Given the description of an element on the screen output the (x, y) to click on. 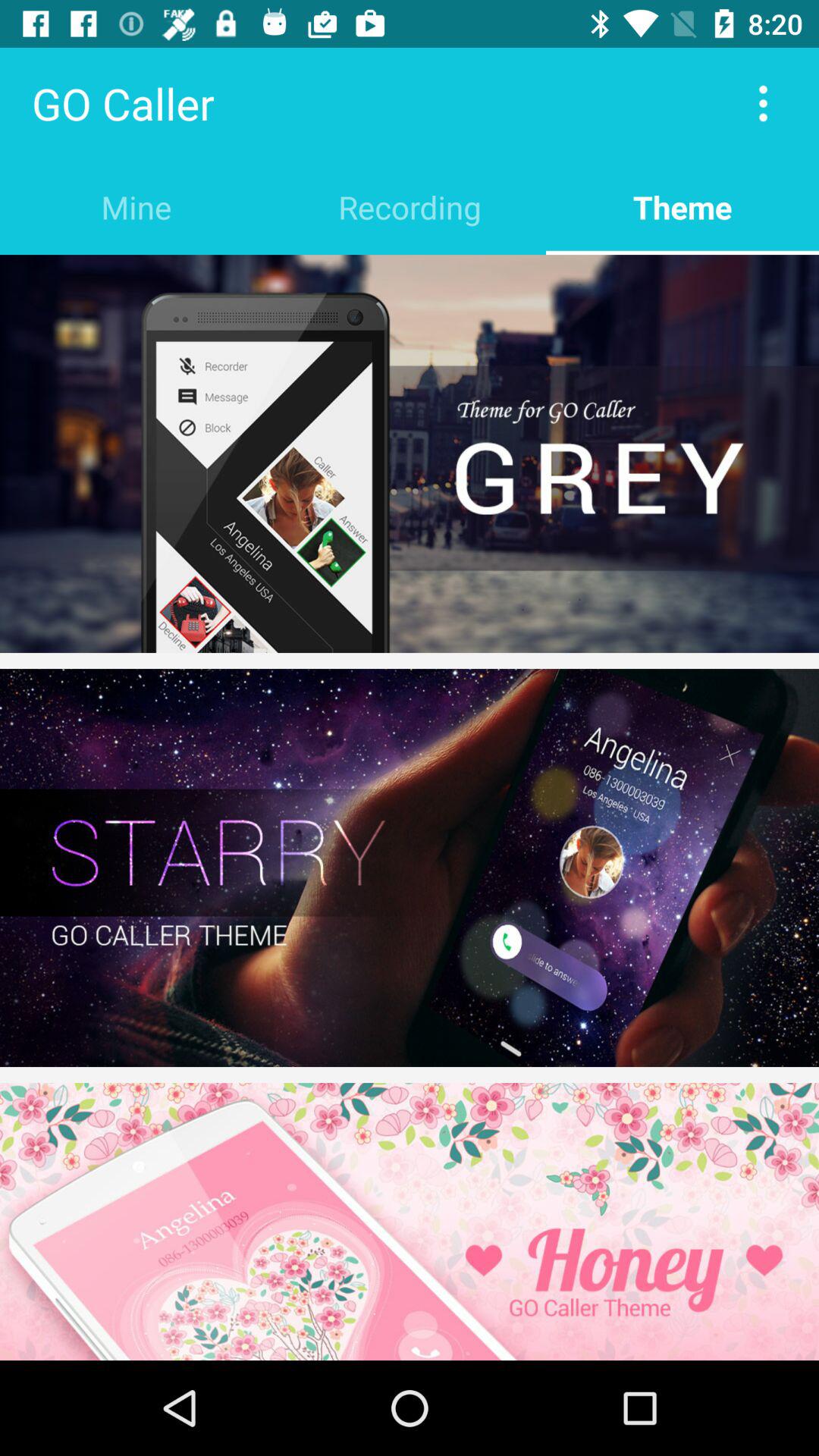
open the recording item (409, 206)
